Given the description of an element on the screen output the (x, y) to click on. 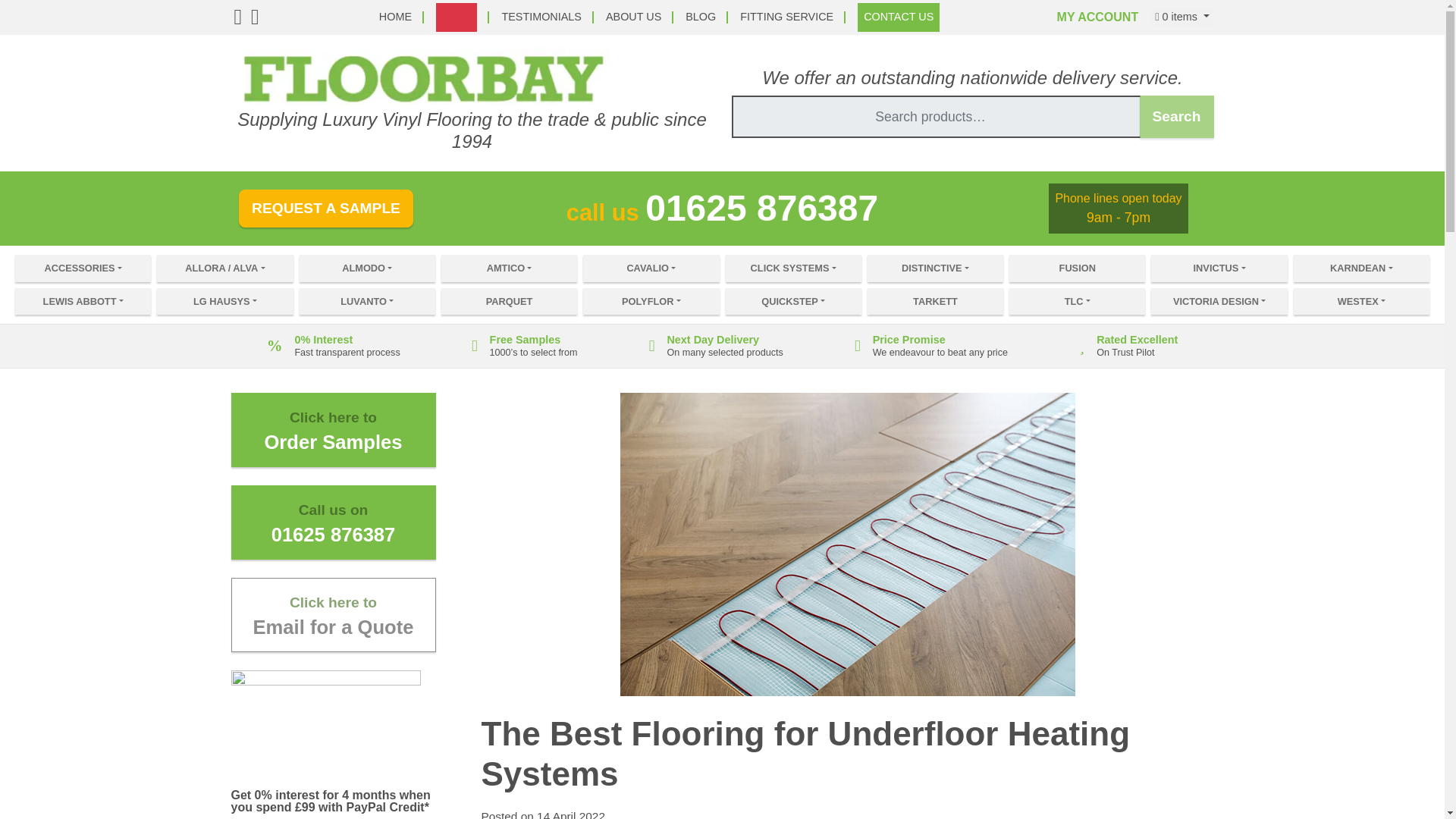
SALE (456, 17)
FITTING SERVICE (785, 17)
TESTIMONIALS (540, 17)
My Account (1097, 17)
Testimonials (540, 17)
Sale (456, 17)
ABOUT US (633, 17)
Fitting Service (785, 17)
Blog (700, 17)
BLOG (700, 17)
